Given the description of an element on the screen output the (x, y) to click on. 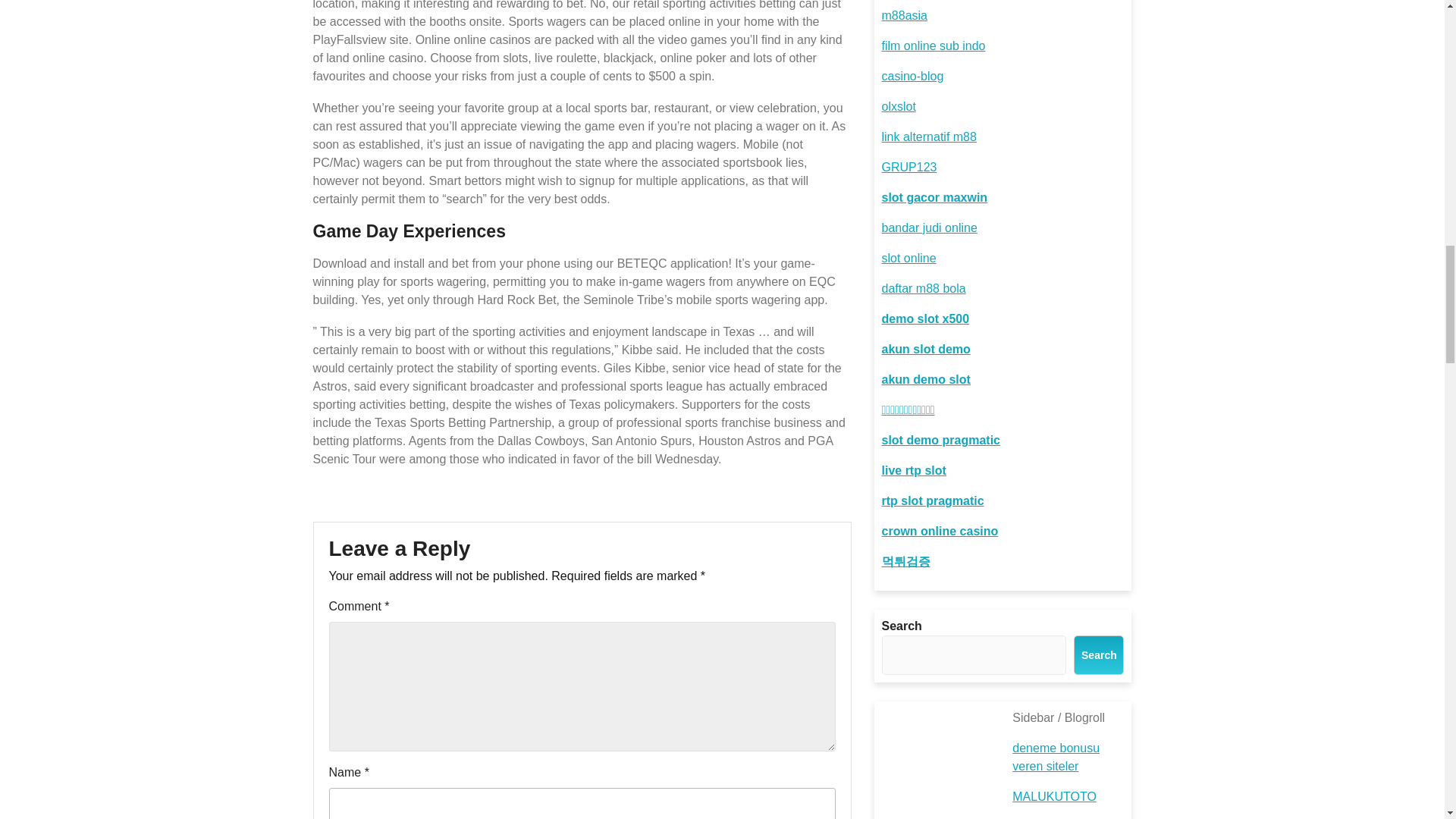
bandar judi online (928, 227)
daftar m88 bola (922, 287)
m88asia (903, 15)
